Given the description of an element on the screen output the (x, y) to click on. 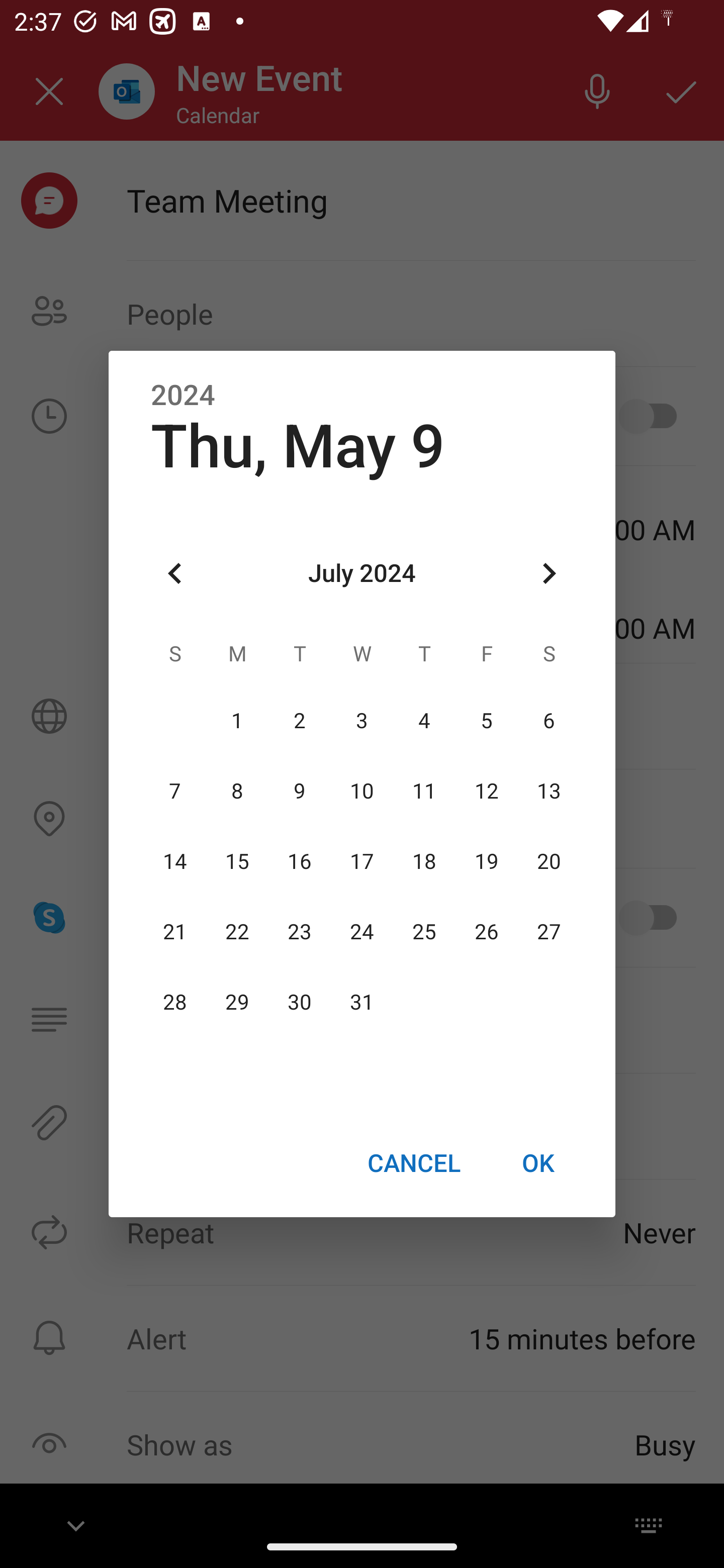
2024 (182, 395)
Thu, May 9 (297, 446)
Previous month (174, 573)
Next month (548, 573)
1 01 July 2024 (237, 720)
2 02 July 2024 (299, 720)
3 03 July 2024 (361, 720)
4 04 July 2024 (424, 720)
5 05 July 2024 (486, 720)
6 06 July 2024 (548, 720)
7 07 July 2024 (175, 790)
8 08 July 2024 (237, 790)
9 09 July 2024 (299, 790)
10 10 July 2024 (361, 790)
11 11 July 2024 (424, 790)
12 12 July 2024 (486, 790)
13 13 July 2024 (548, 790)
14 14 July 2024 (175, 861)
15 15 July 2024 (237, 861)
16 16 July 2024 (299, 861)
17 17 July 2024 (361, 861)
18 18 July 2024 (424, 861)
19 19 July 2024 (486, 861)
20 20 July 2024 (548, 861)
21 21 July 2024 (175, 931)
22 22 July 2024 (237, 931)
23 23 July 2024 (299, 931)
24 24 July 2024 (361, 931)
25 25 July 2024 (424, 931)
26 26 July 2024 (486, 931)
27 27 July 2024 (548, 931)
28 28 July 2024 (175, 1002)
29 29 July 2024 (237, 1002)
30 30 July 2024 (299, 1002)
31 31 July 2024 (361, 1002)
CANCEL (413, 1162)
OK (537, 1162)
